Given the description of an element on the screen output the (x, y) to click on. 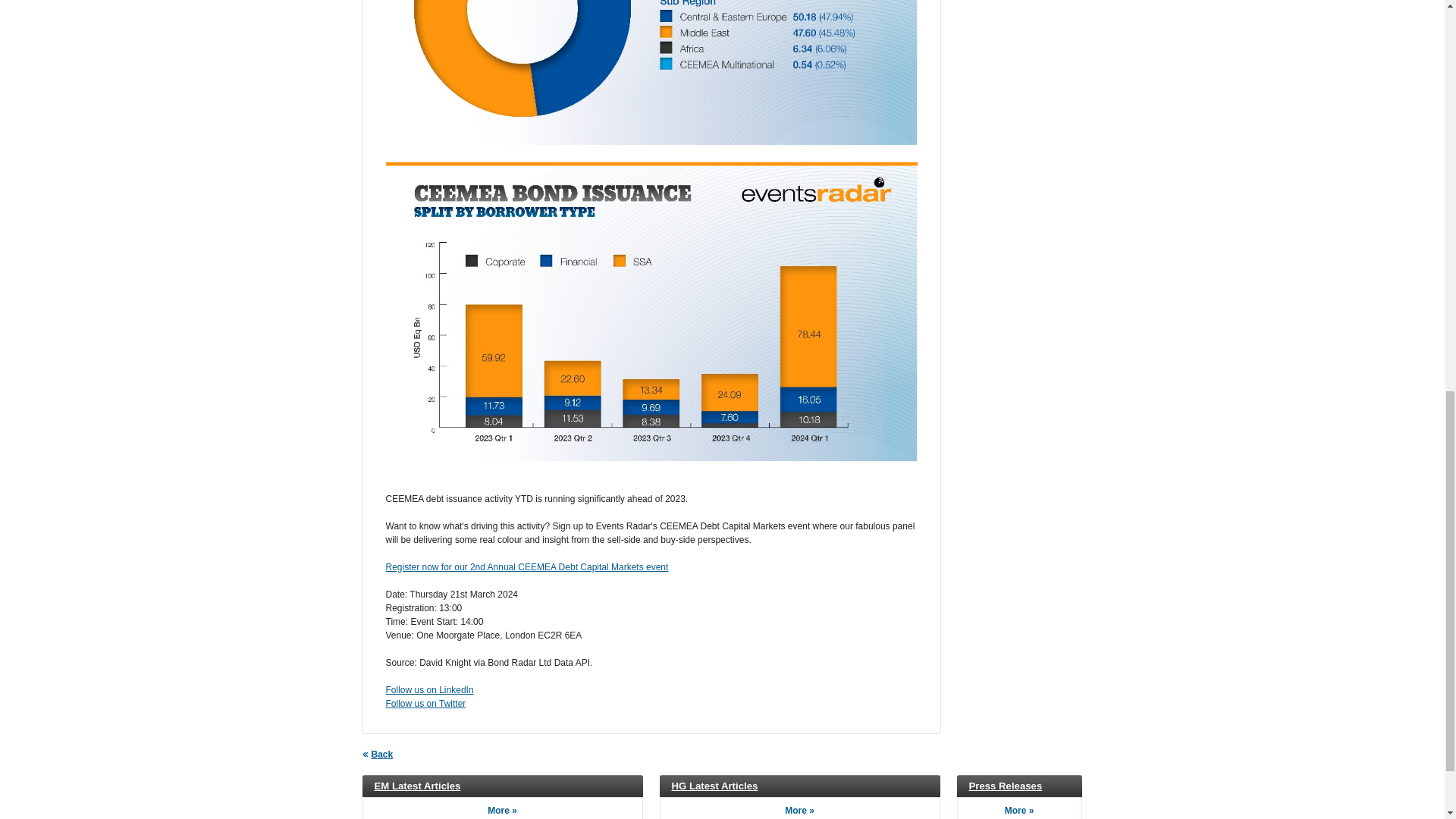
Follow us on LinkedIn (429, 689)
Follow us on Twitter (425, 703)
HG Latest Articles (714, 785)
EM Latest Articles (417, 785)
Press Releases (1005, 785)
Back (377, 754)
